Given the description of an element on the screen output the (x, y) to click on. 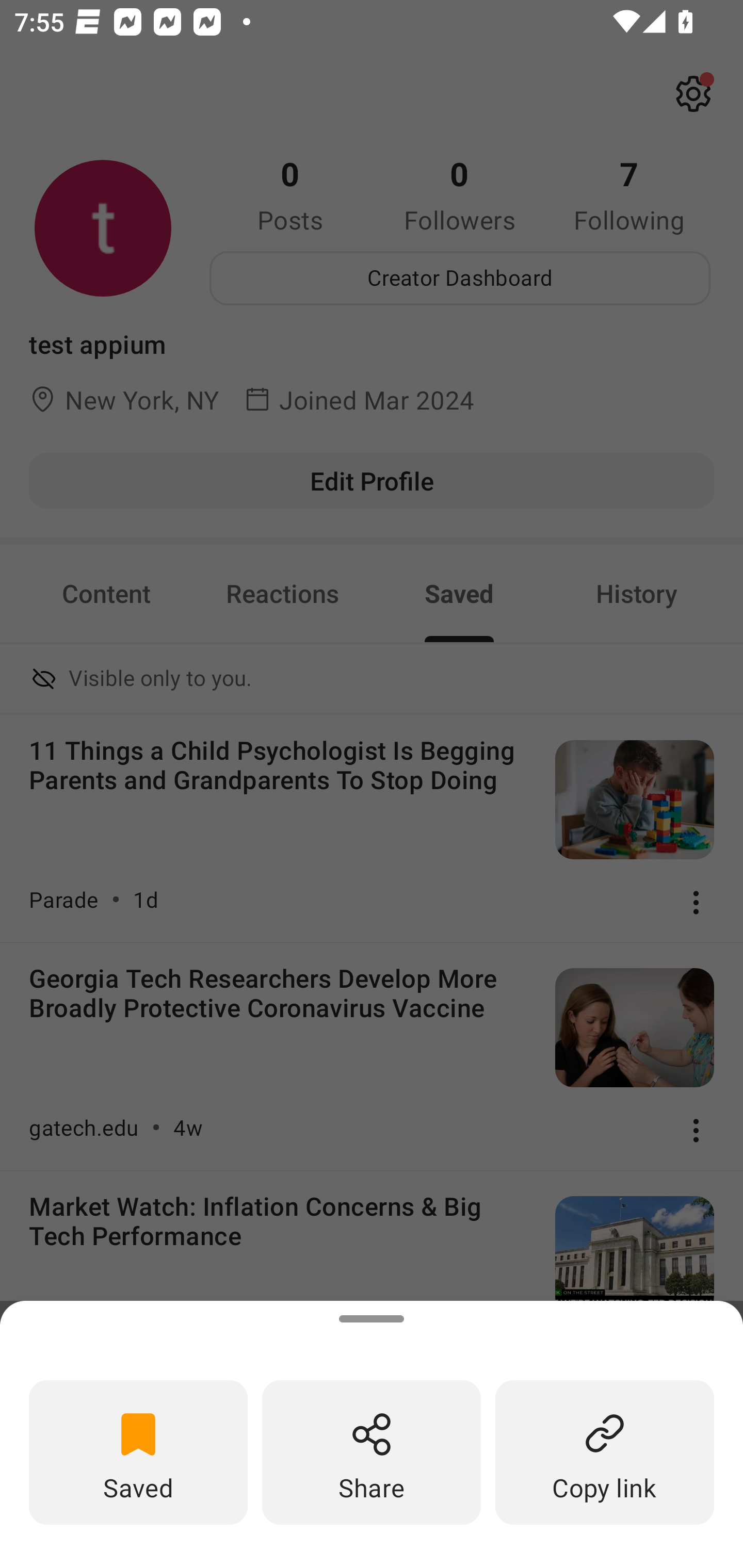
Saved (137, 1451)
Share (371, 1451)
Copy link (604, 1451)
